Given the description of an element on the screen output the (x, y) to click on. 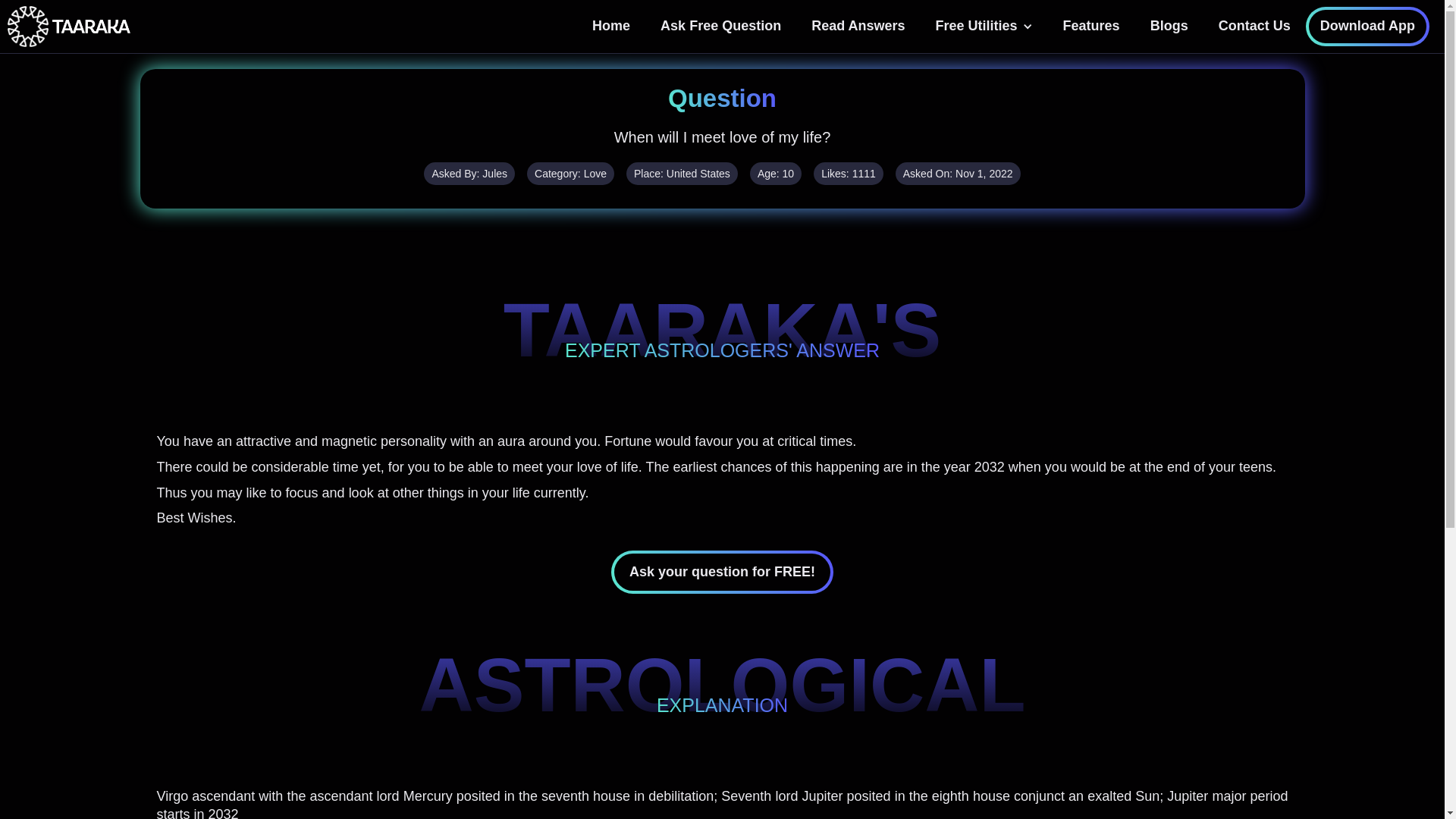
Blogs (1169, 25)
Home (610, 25)
Features (1091, 25)
Ask Free Question (720, 25)
Ask your question for FREE! (721, 571)
Contact Us (1255, 25)
Download App (1367, 25)
Read Answers (858, 25)
